Given the description of an element on the screen output the (x, y) to click on. 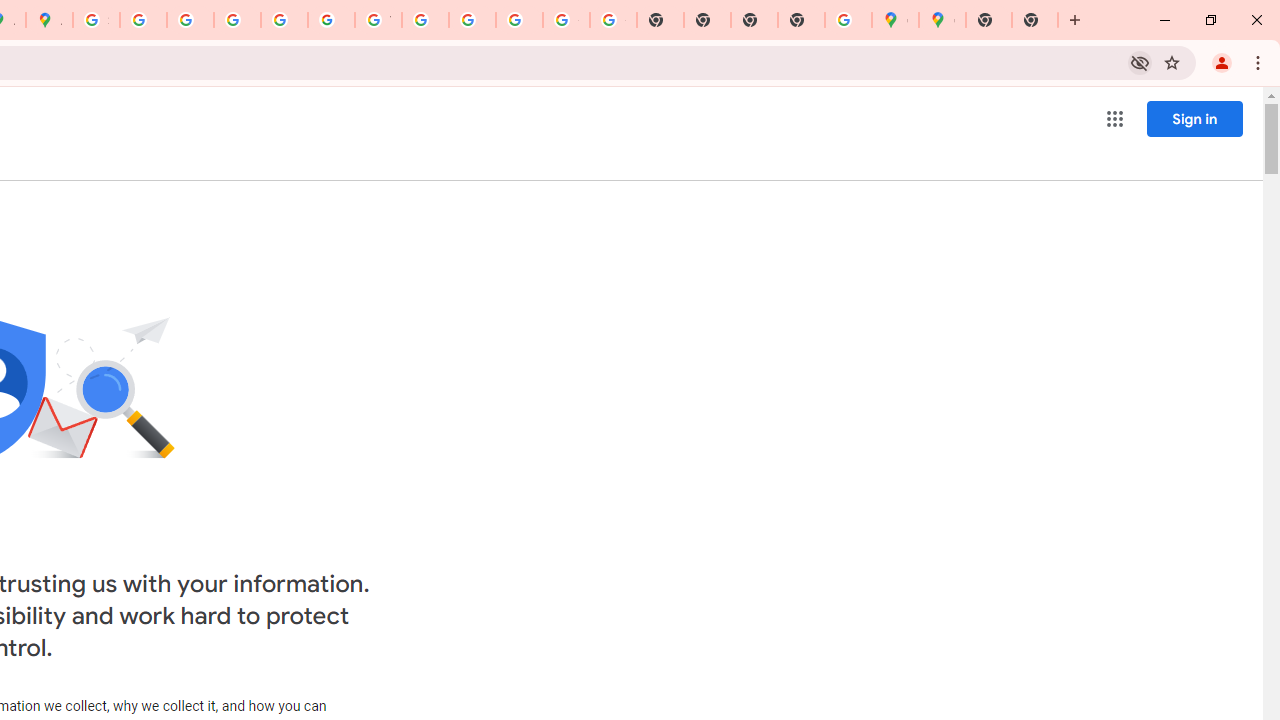
New Tab (989, 20)
Google Maps (895, 20)
New Tab (1035, 20)
New Tab (801, 20)
Privacy Help Center - Policies Help (237, 20)
